Given the description of an element on the screen output the (x, y) to click on. 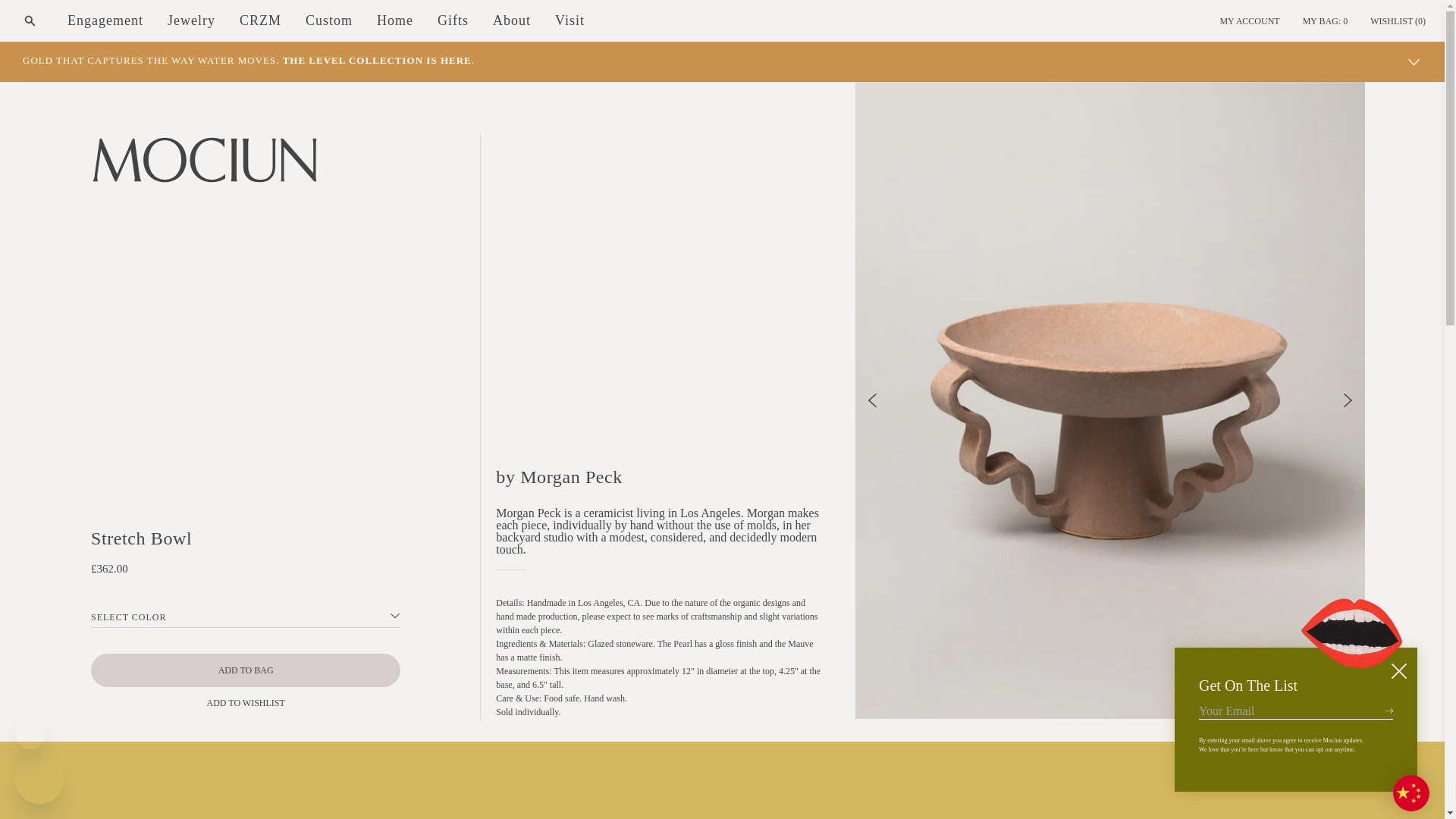
Level (248, 60)
Skip to content (45, 17)
